Given the description of an element on the screen output the (x, y) to click on. 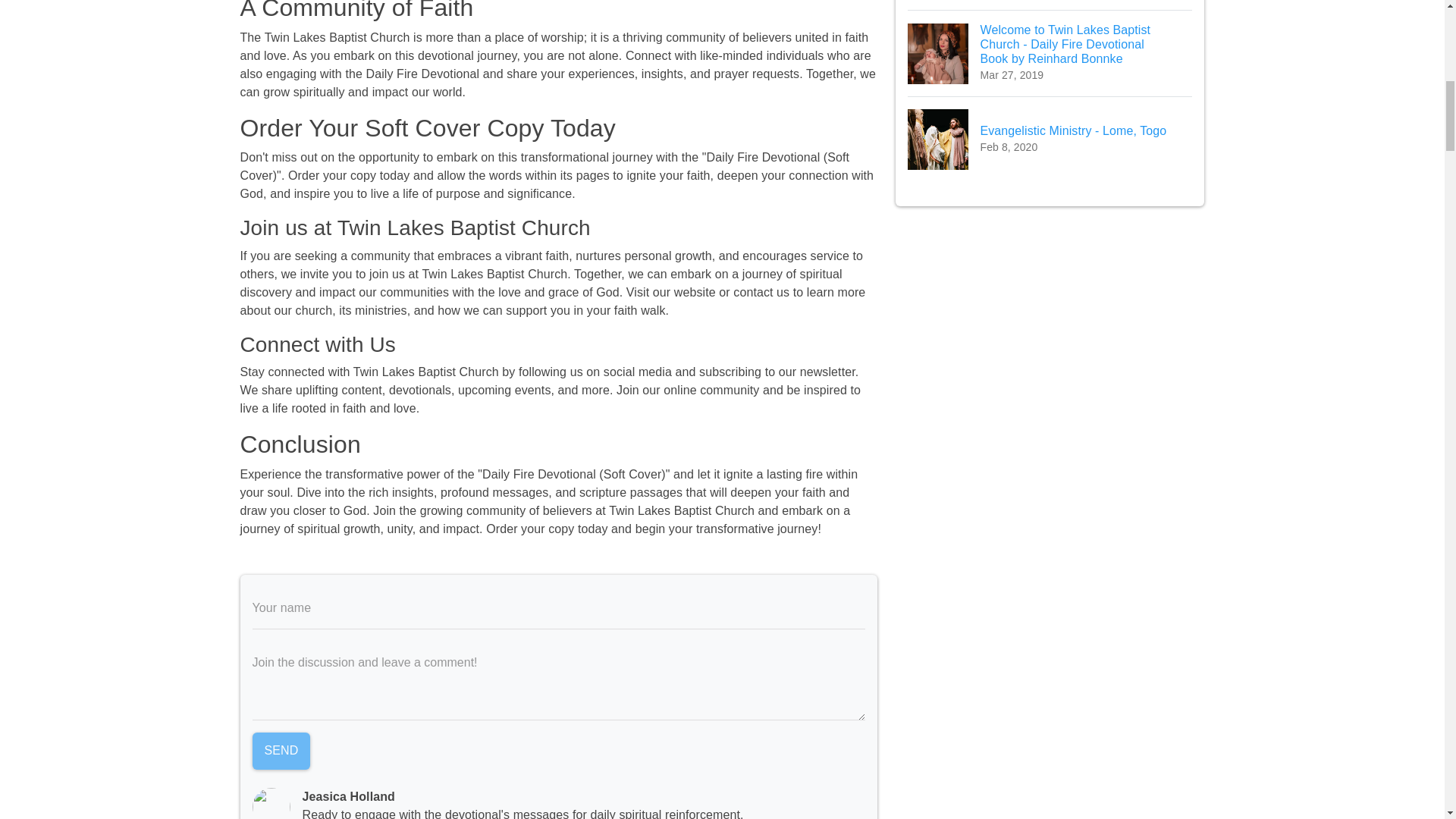
Send (280, 751)
Send (1049, 138)
